Given the description of an element on the screen output the (x, y) to click on. 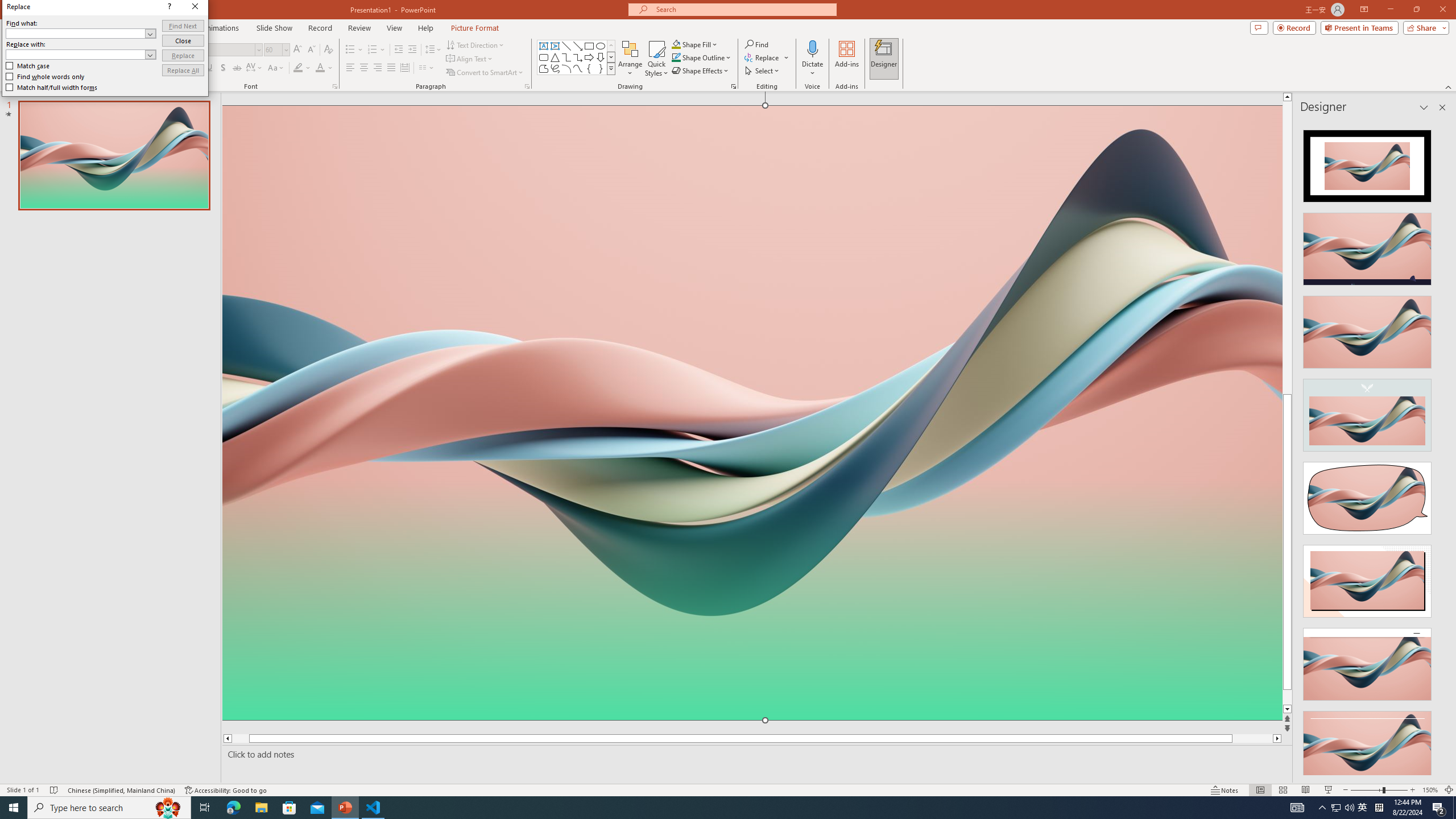
Right Brace (600, 68)
Justify (390, 67)
Find what (748, 307)
Microsoft Edge (233, 807)
Find what (754, 307)
Office Clipboard... (88, 85)
Columns (426, 67)
